Given the description of an element on the screen output the (x, y) to click on. 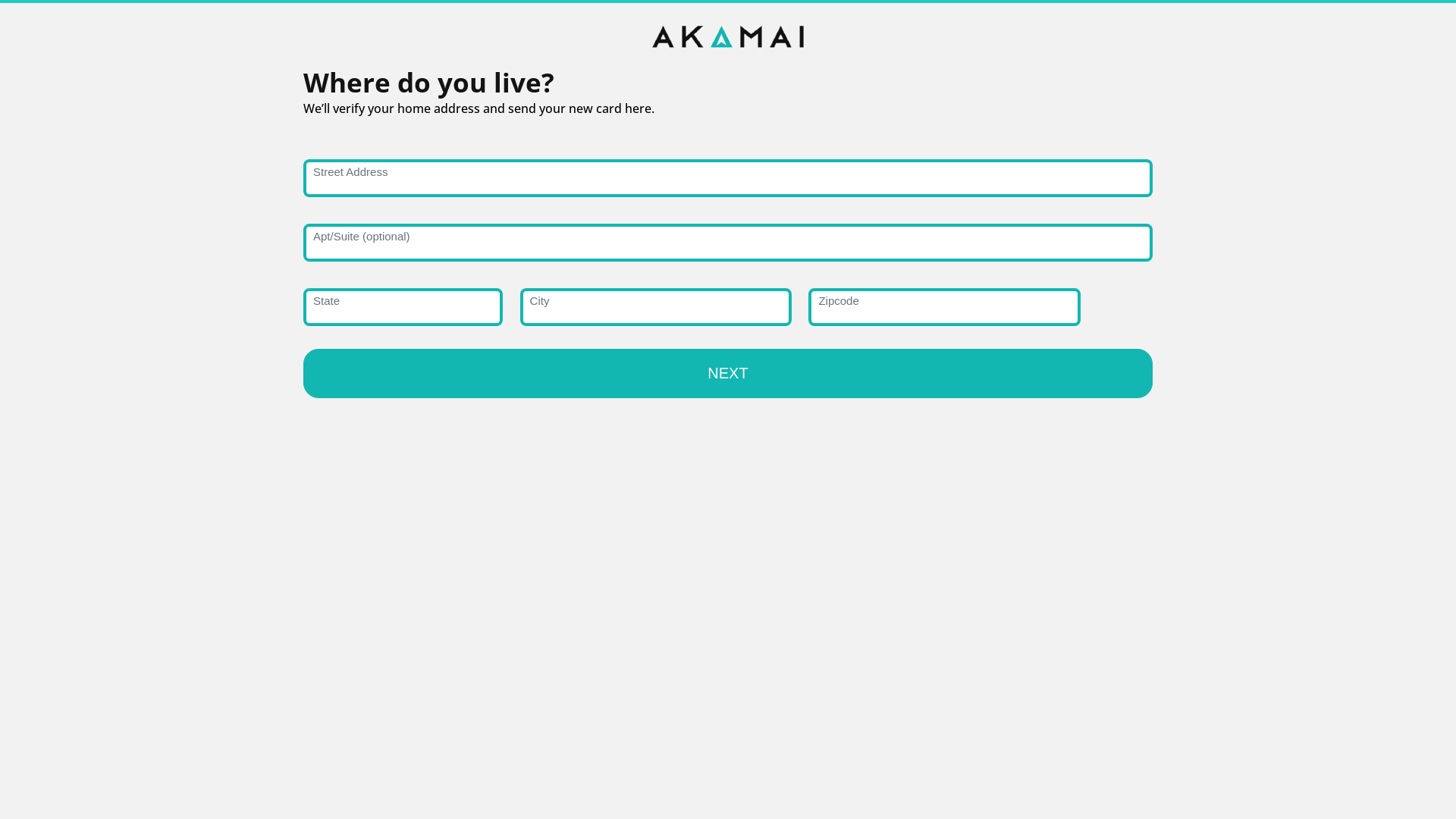
NEXT Element type: text (727, 373)
